Given the description of an element on the screen output the (x, y) to click on. 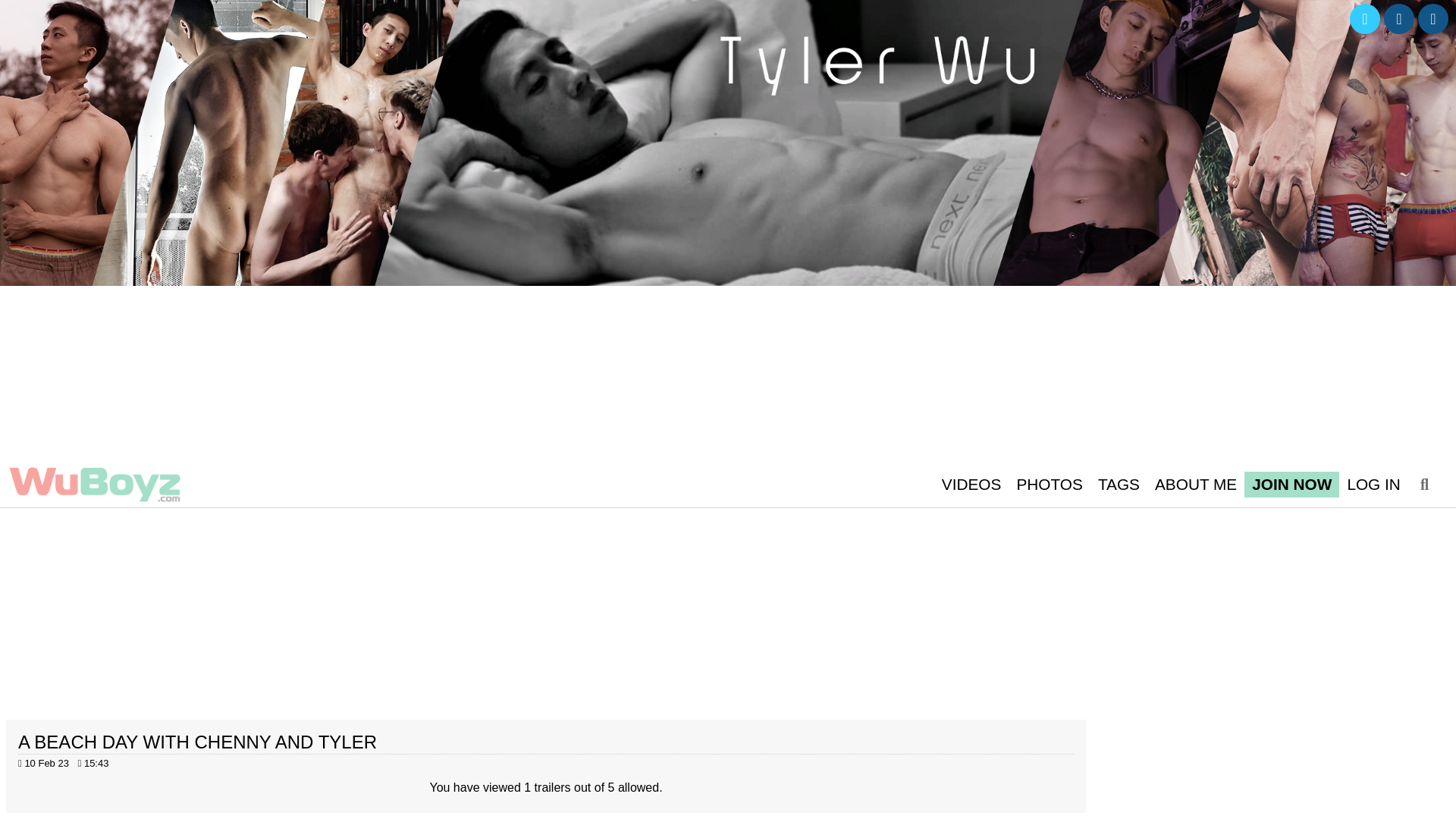
Youtube (1433, 19)
TAGS (1118, 484)
PHOTOS (1048, 484)
VIDEOS (971, 484)
Twitter (1364, 19)
Instagram (1398, 19)
